Given the description of an element on the screen output the (x, y) to click on. 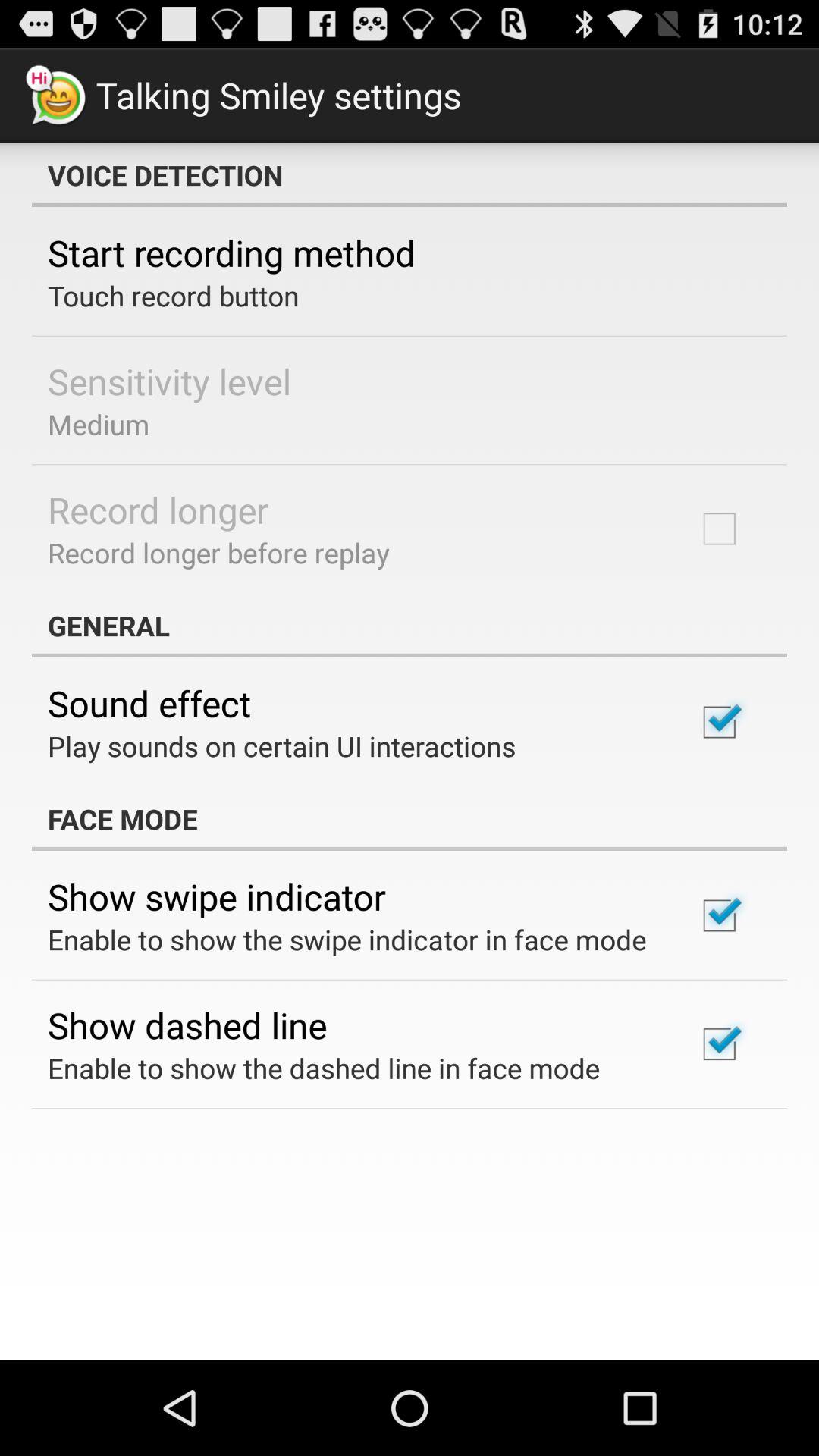
jump to the general app (409, 625)
